Given the description of an element on the screen output the (x, y) to click on. 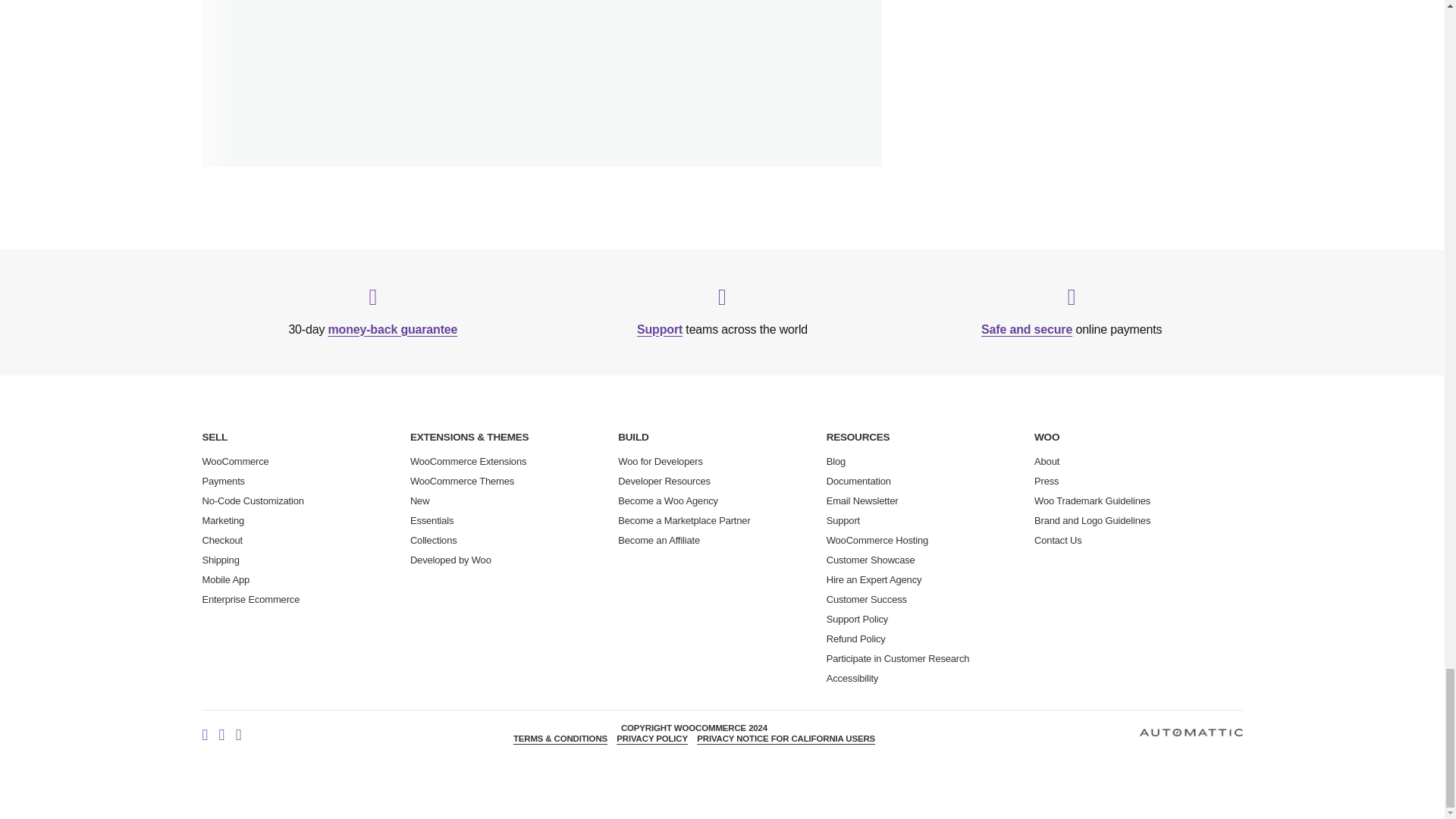
New (419, 500)
Shipping (220, 559)
WooCommerce (234, 460)
WooCommerce Themes (461, 480)
Safe and secure (1026, 328)
Enterprise Ecommerce (250, 599)
Marketing (223, 520)
Support (659, 328)
Payments (223, 480)
No-Code Customization (252, 500)
money-back guarantee (393, 328)
WooCommerce Extensions (467, 460)
Mobile App (225, 579)
Checkout (222, 540)
Essentials (432, 520)
